Given the description of an element on the screen output the (x, y) to click on. 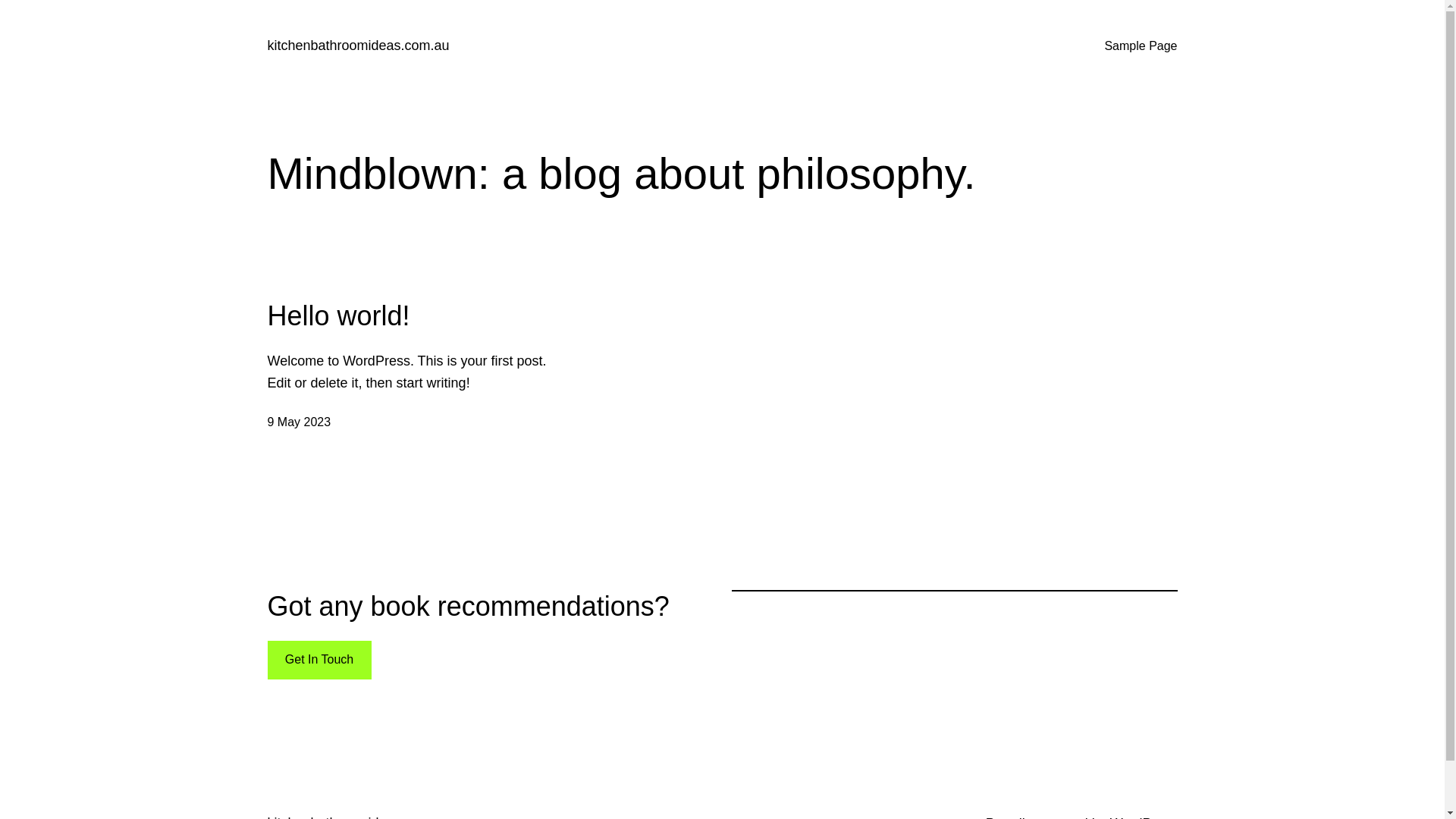
9 May 2023 Element type: text (298, 421)
Hello world! Element type: text (337, 315)
Sample Page Element type: text (1140, 46)
kitchenbathroomideas.com.au Element type: text (357, 45)
Get In Touch Element type: text (318, 659)
